Given the description of an element on the screen output the (x, y) to click on. 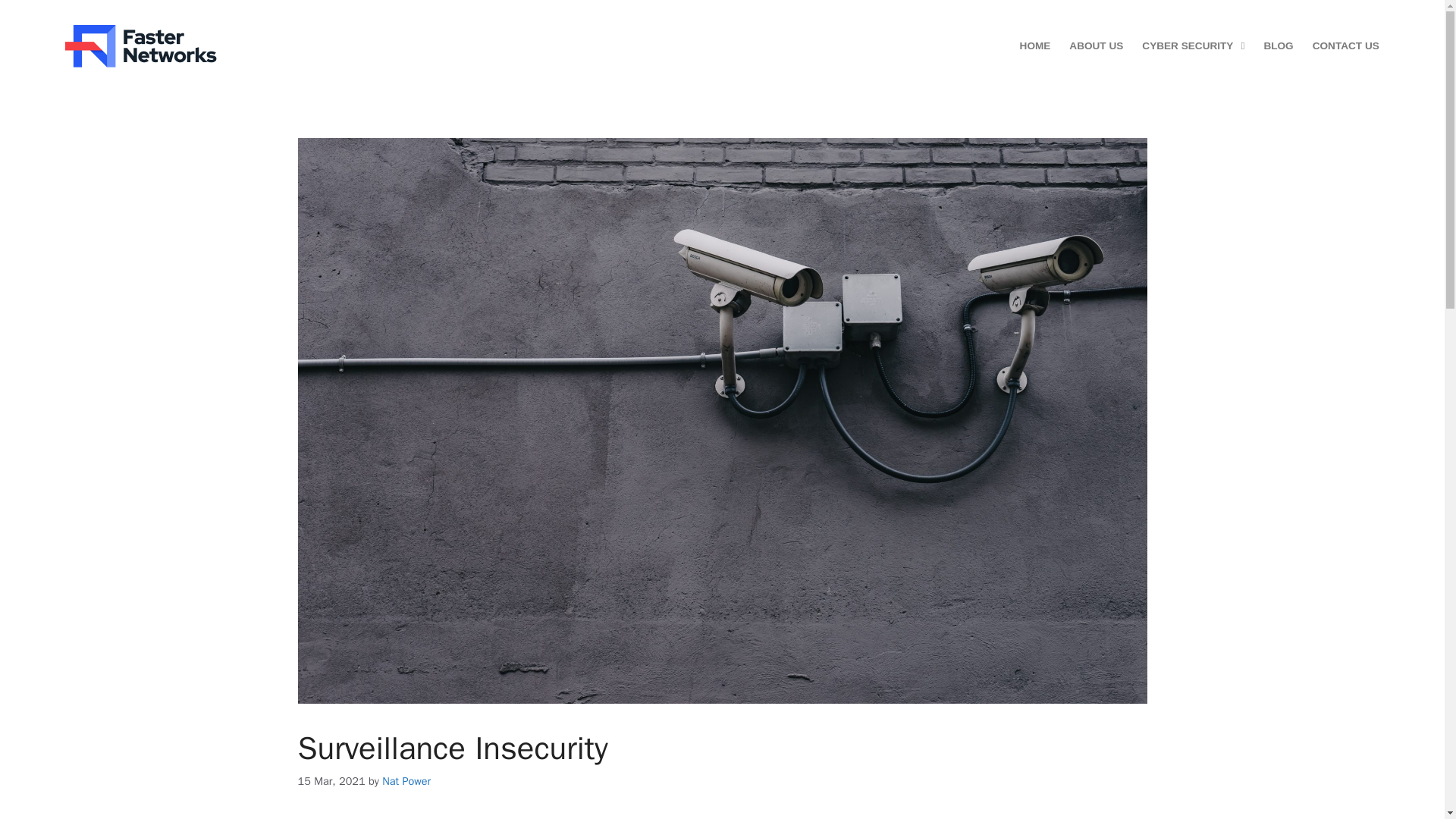
CONTACT US (1345, 45)
HOME (1035, 45)
ABOUT US (1095, 45)
View all posts by Nat Power (405, 780)
CYBER SECURITY (1192, 45)
